Given the description of an element on the screen output the (x, y) to click on. 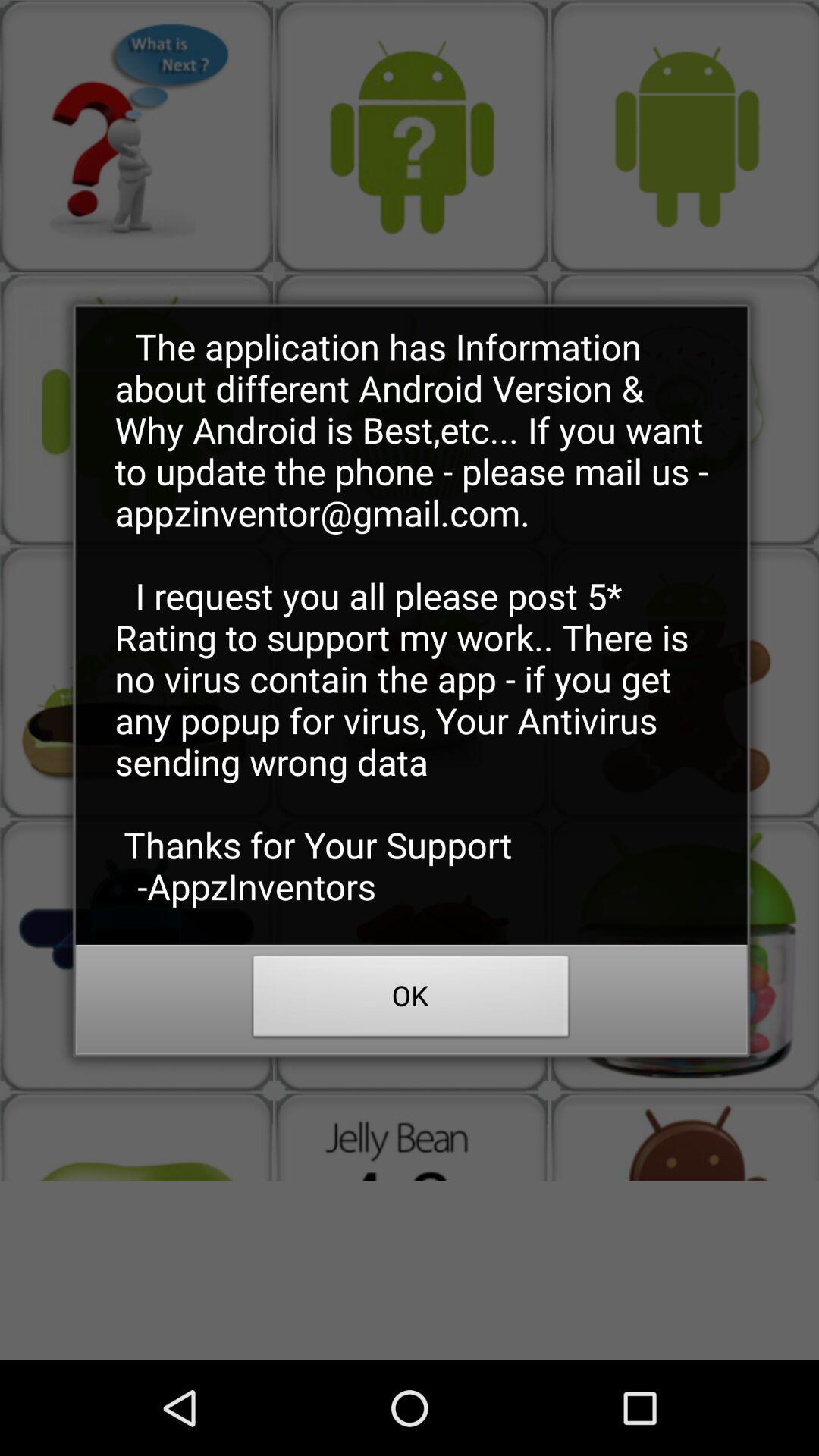
open icon below the application has (410, 1000)
